Given the description of an element on the screen output the (x, y) to click on. 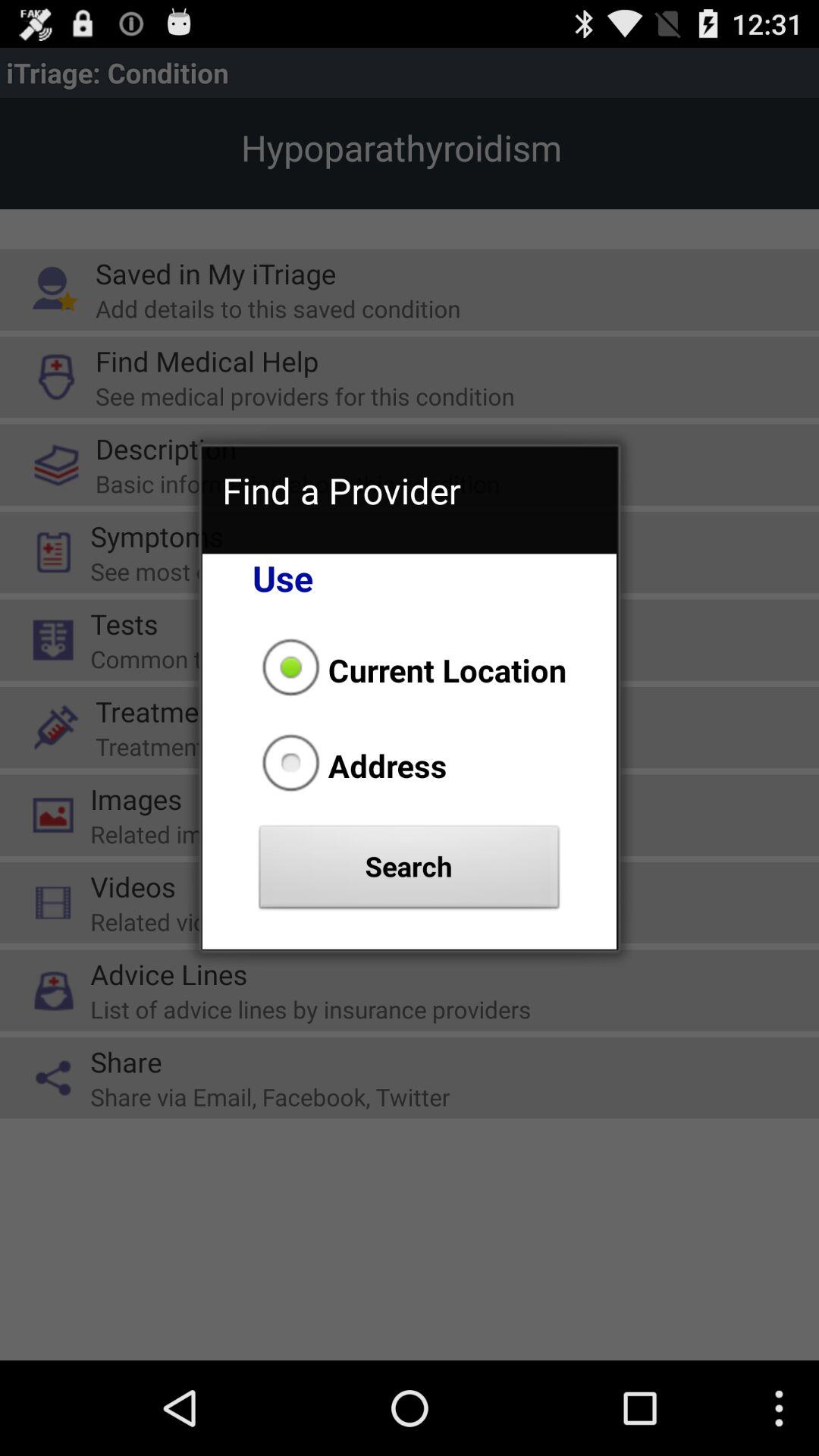
turn on the icon above search button (349, 765)
